Given the description of an element on the screen output the (x, y) to click on. 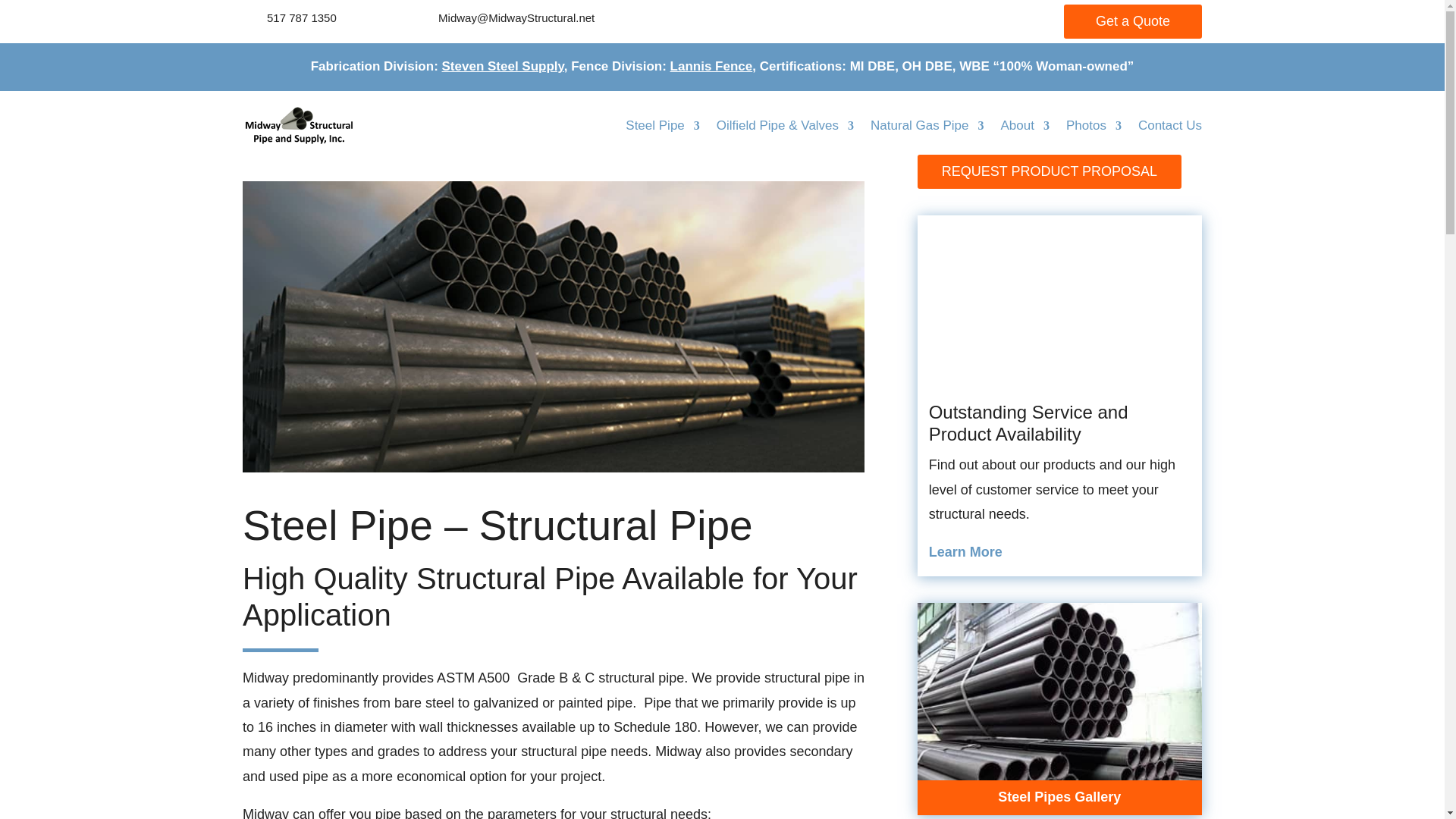
Steel Pipes Gallery (1059, 796)
517 787 1350 (301, 17)
Steel Pipe (663, 125)
Learn More (965, 551)
Photos (1093, 125)
REQUEST PRODUCT PROPOSAL (1048, 171)
Steven Steel Supply (503, 65)
Get a Quote (1133, 21)
Lannis Fence (710, 65)
